Given the description of an element on the screen output the (x, y) to click on. 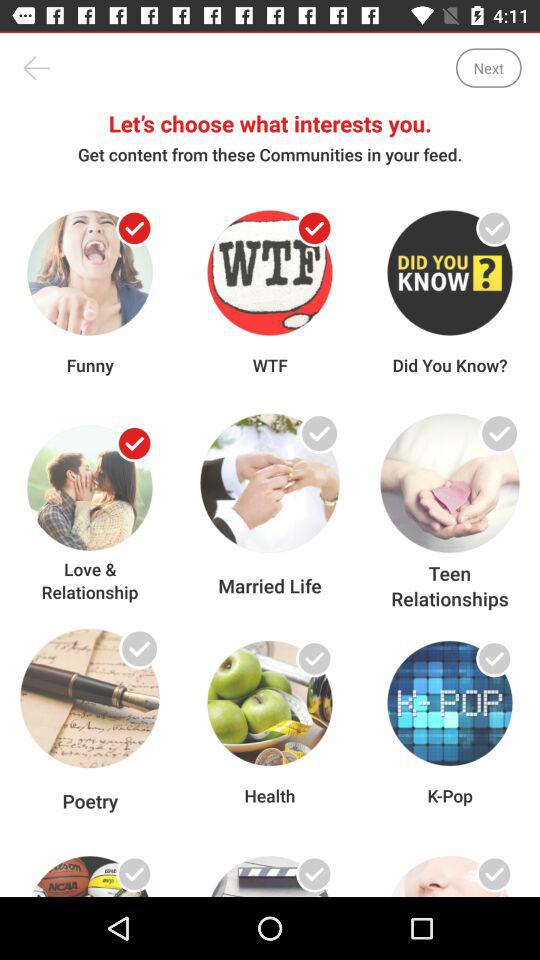
select a category (134, 658)
